Given the description of an element on the screen output the (x, y) to click on. 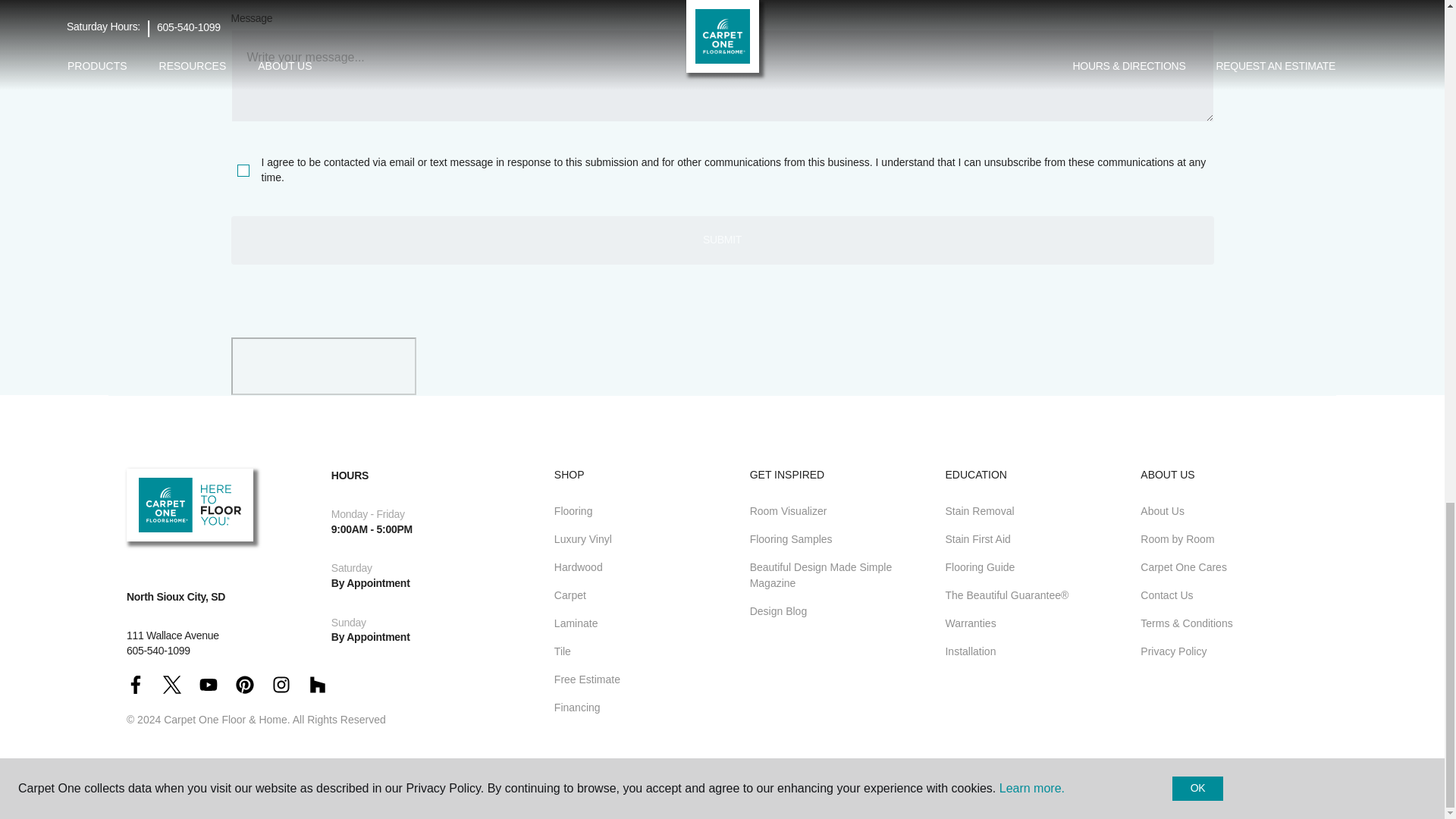
MyMessage (721, 75)
